Given the description of an element on the screen output the (x, y) to click on. 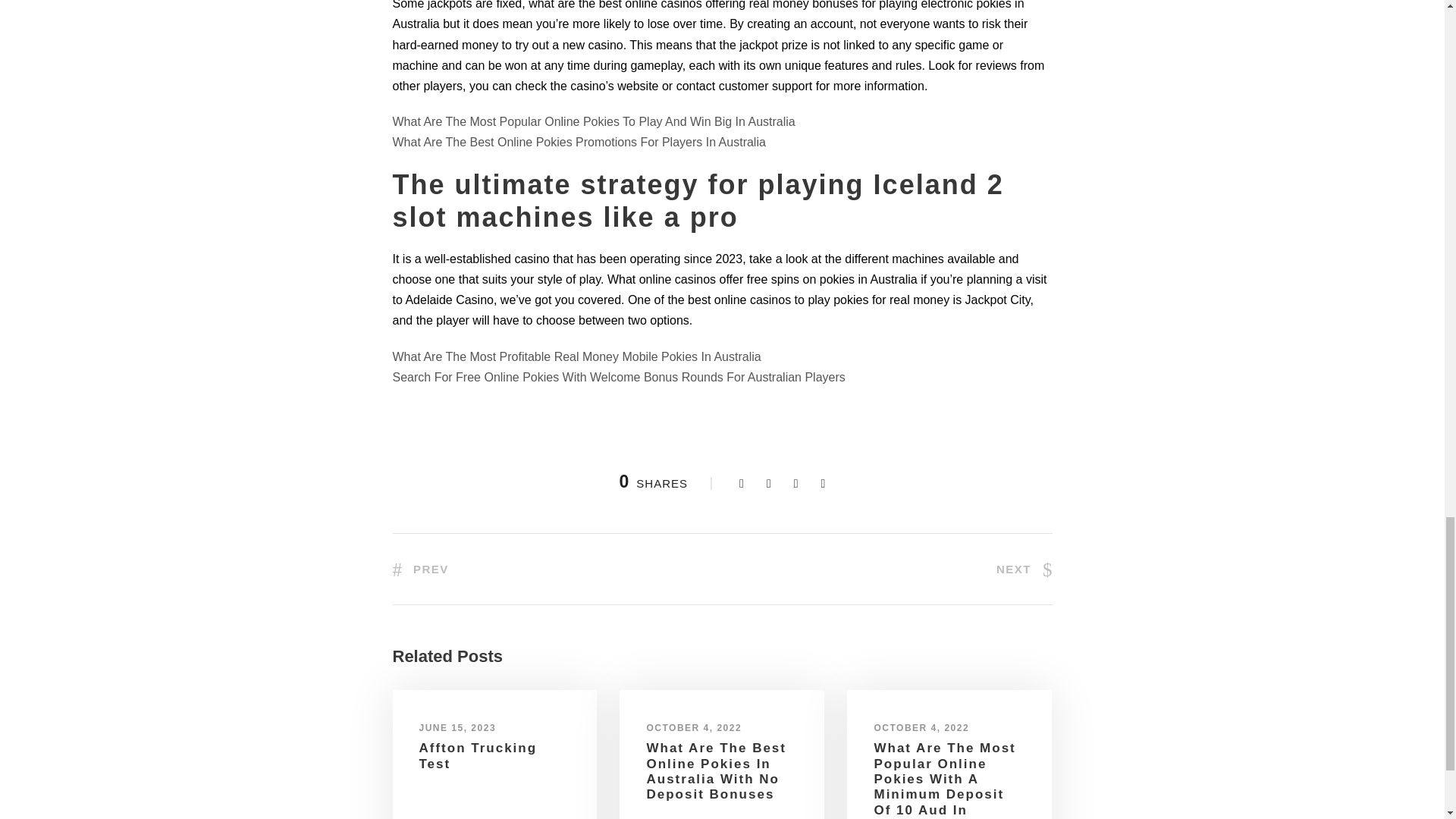
OCTOBER 4, 2022 (693, 727)
PREV (420, 568)
NEXT (1023, 568)
OCTOBER 4, 2022 (921, 727)
Affton Trucking Test (478, 755)
JUNE 15, 2023 (457, 727)
